Given the description of an element on the screen output the (x, y) to click on. 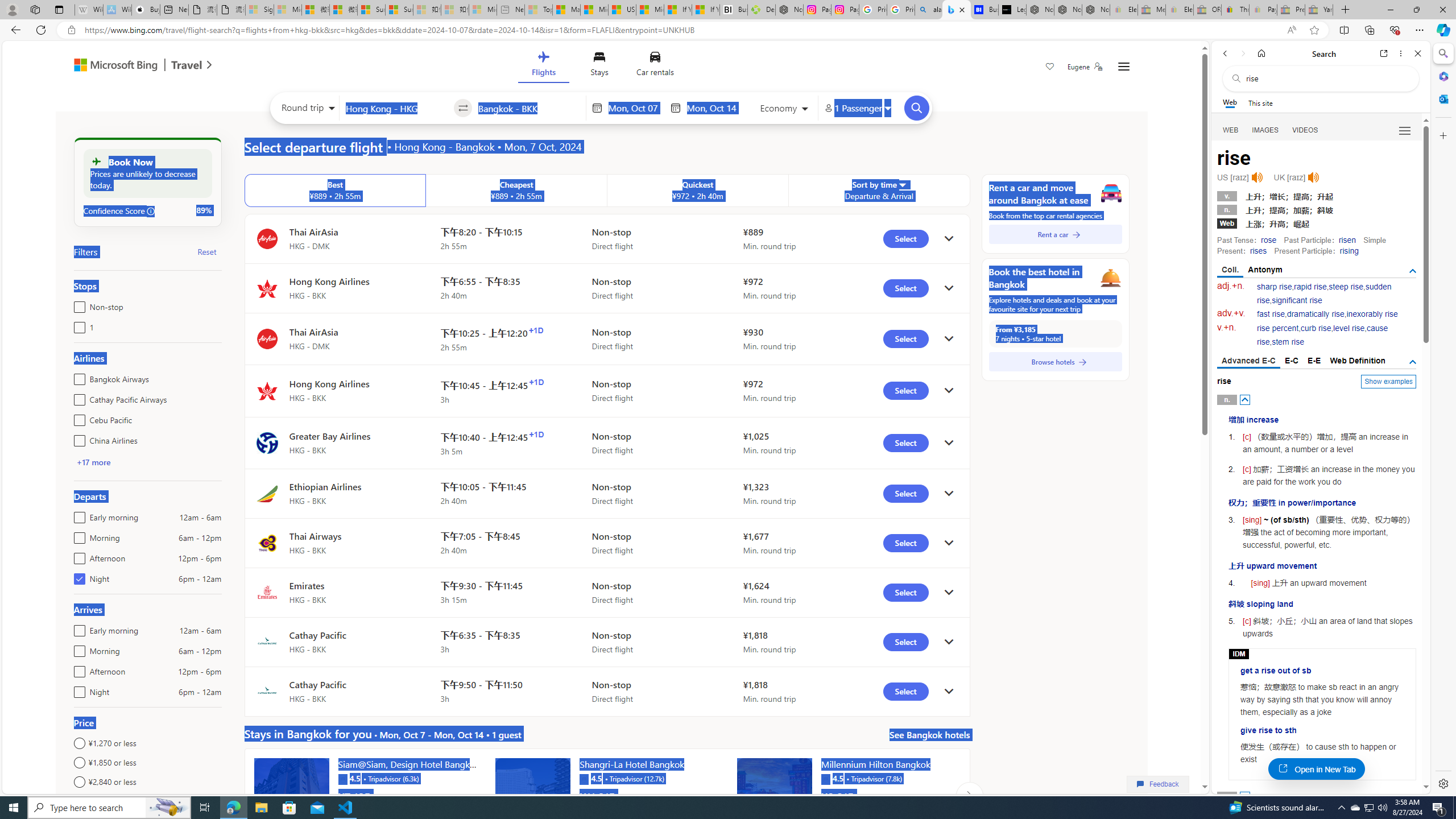
Select class of service (784, 109)
AutomationID: posbtn_0 (1245, 399)
AutomationID: tgdef (1412, 362)
Cathay Pacific Airways (76, 397)
WEB (1231, 130)
Save (1049, 67)
Web Definition (1357, 360)
1 Passenger (857, 108)
